Given the description of an element on the screen output the (x, y) to click on. 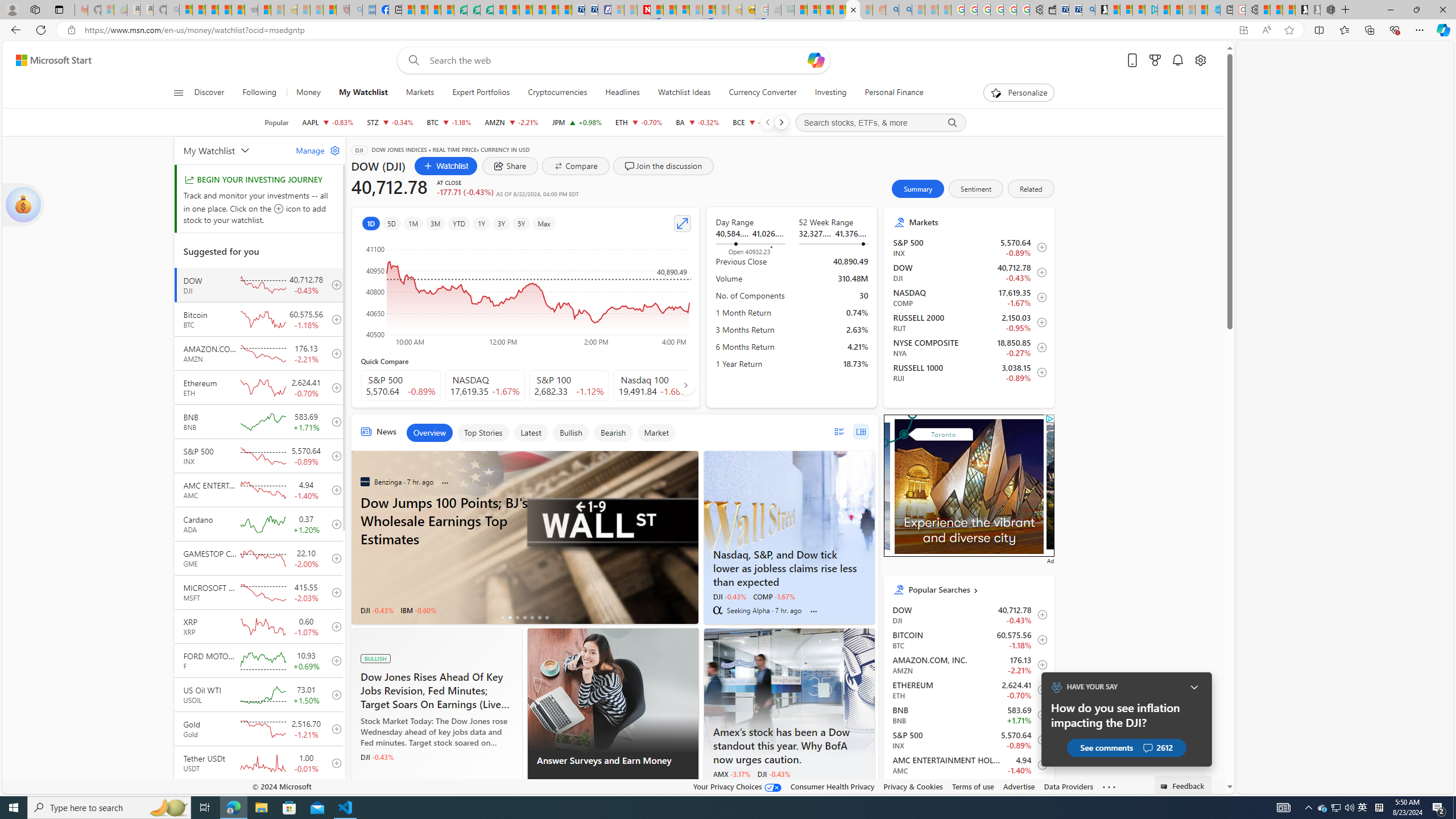
JPM JPMORGAN CHASE & CO. increase 216.71 +2.11 +0.98% (576, 122)
Currency Converter (762, 92)
ETH Ethereum decrease 2,624.41 -18.32 -0.70% itemundefined (968, 689)
AutomationID: gradient2 (968, 483)
Headlines (622, 92)
